Given the description of an element on the screen output the (x, y) to click on. 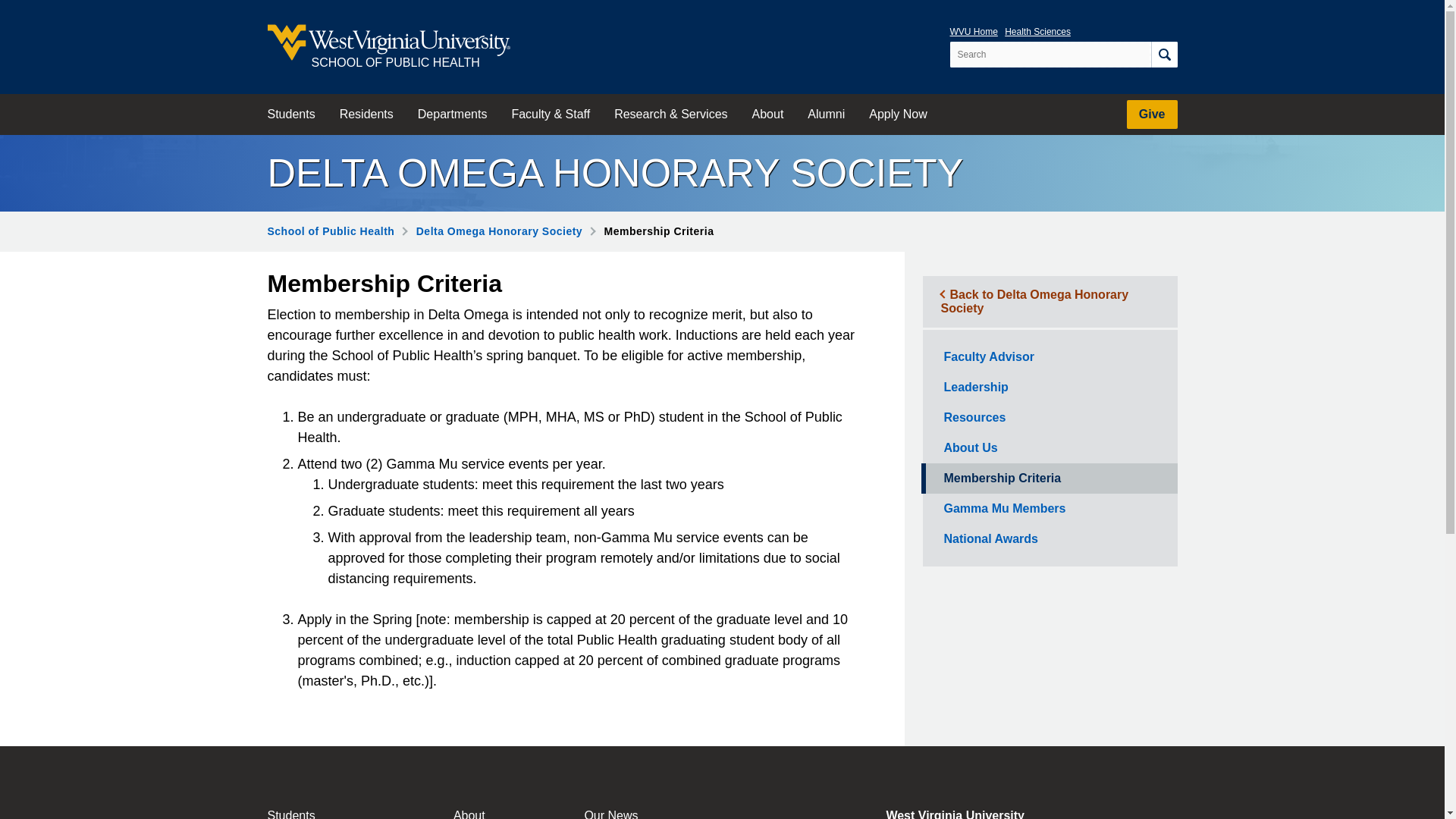
Give (1151, 113)
Health Sciences (1037, 31)
Our News (635, 812)
WVU Home (973, 31)
Gamma Mu Members (1048, 508)
Residents (366, 114)
SCHOOL OF PUBLIC HEALTH (387, 46)
About (481, 812)
National Awards (1048, 539)
Apply Now (898, 114)
About (767, 114)
Delta Omega Honorary Society (499, 231)
Students (290, 114)
Faculty Advisor (1048, 357)
